Given the description of an element on the screen output the (x, y) to click on. 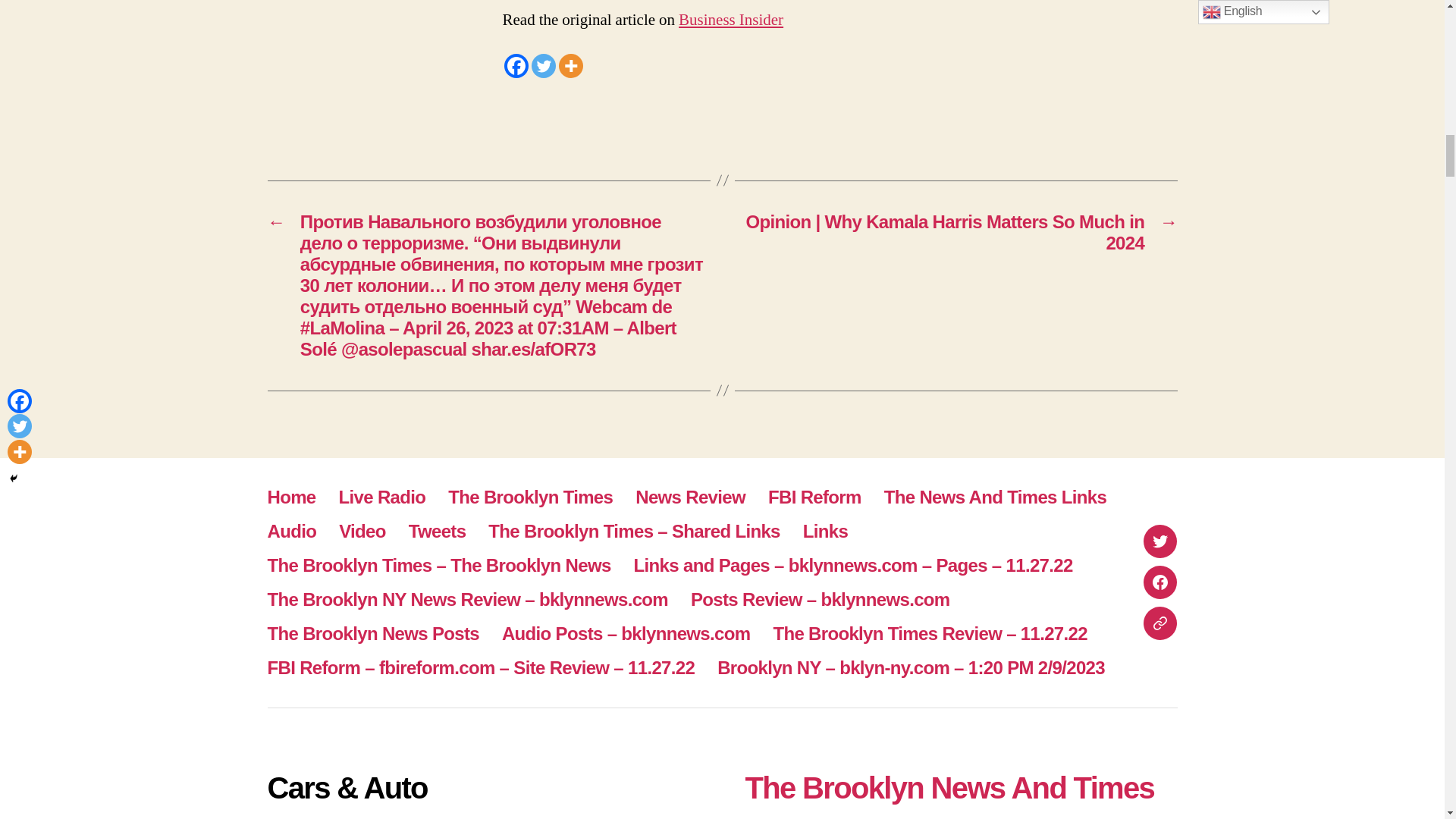
Twitter (542, 65)
More (569, 65)
Facebook (515, 65)
